Given the description of an element on the screen output the (x, y) to click on. 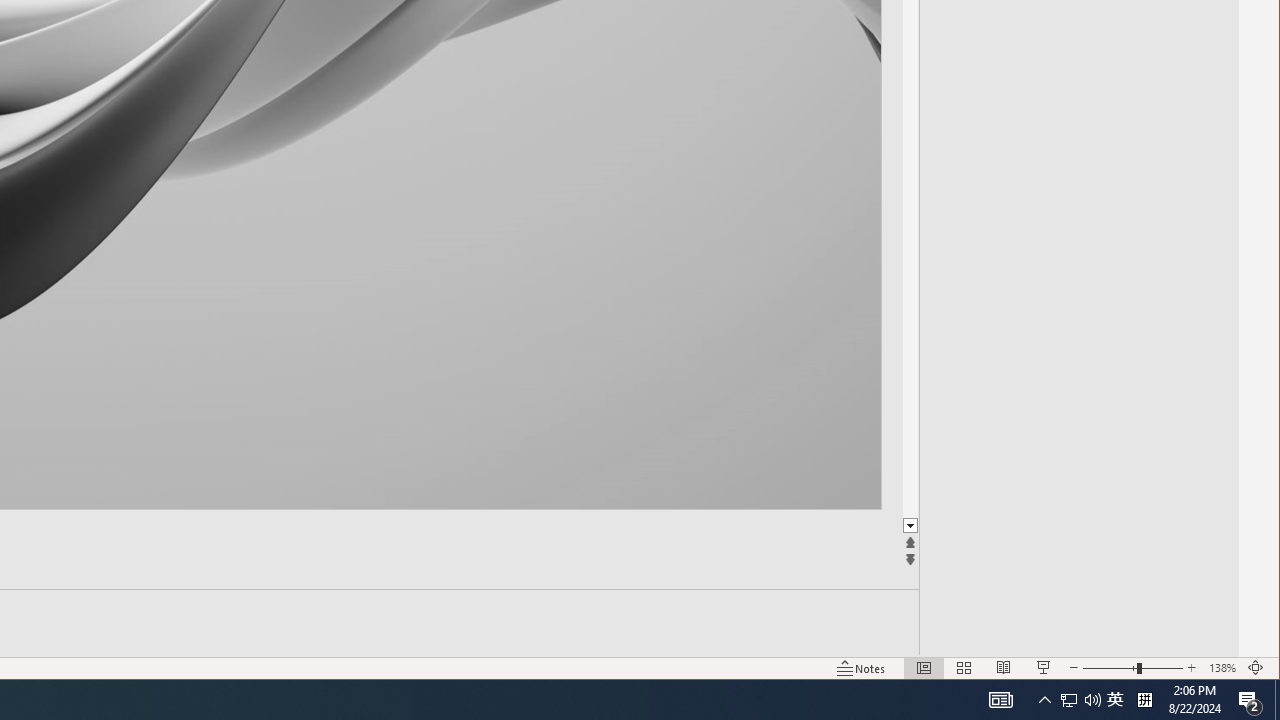
Zoom Out (1109, 668)
Line down (1229, 525)
Notes  (861, 668)
Slide Show (1069, 699)
Tray Input Indicator - Chinese (Simplified, China) (1043, 668)
Zoom In (1144, 699)
Show desktop (1191, 668)
AutomationID: 4105 (1115, 699)
Zoom (1277, 699)
Reading View (1000, 699)
Zoom 138% (1132, 668)
Notification Chevron (1004, 668)
